Given the description of an element on the screen output the (x, y) to click on. 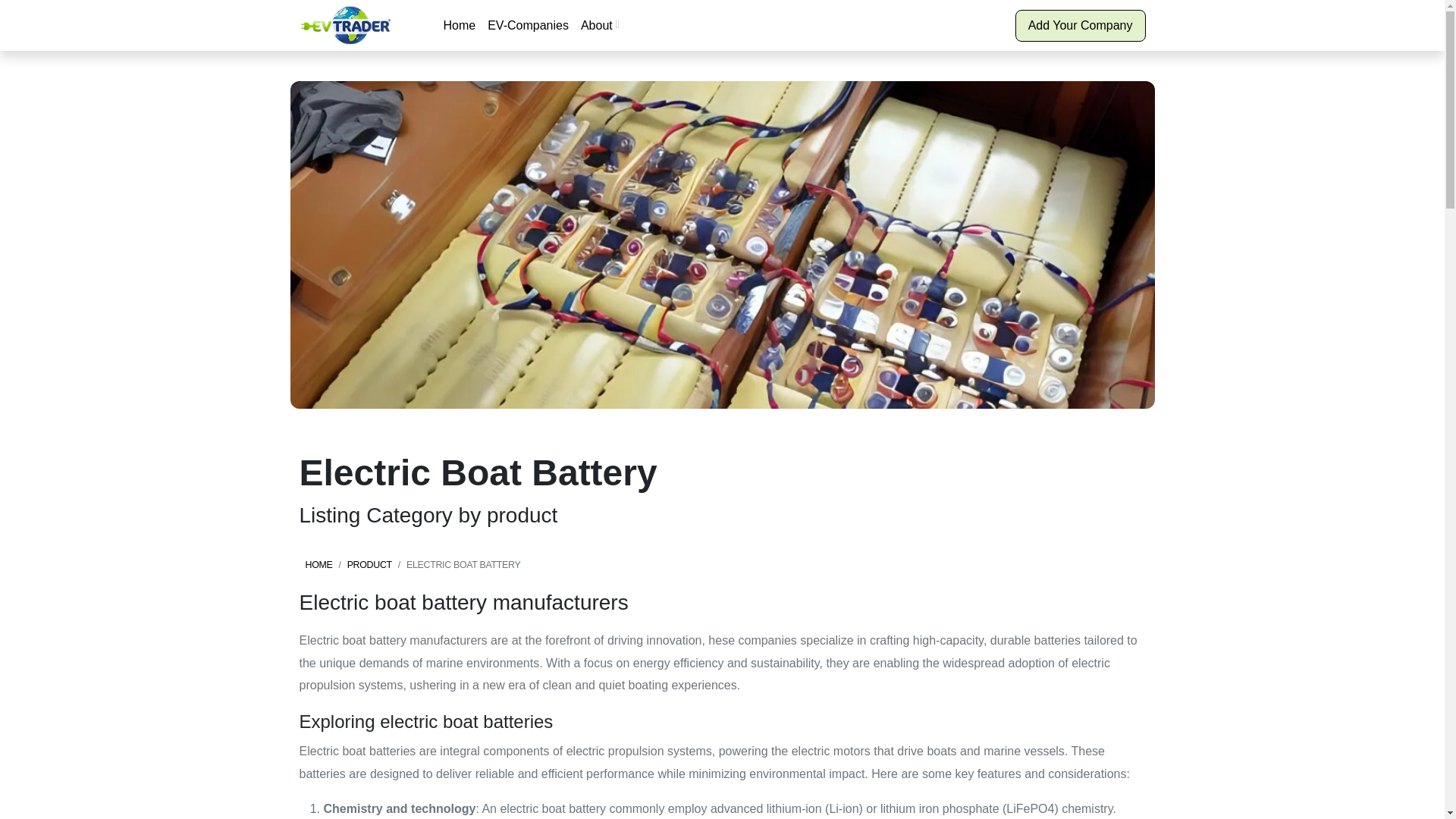
PRODUCT (369, 564)
EV-Companies (528, 24)
HOME (317, 564)
Home (459, 24)
Add Your Company (1079, 25)
Home (459, 24)
EV-Companies (528, 24)
